Given the description of an element on the screen output the (x, y) to click on. 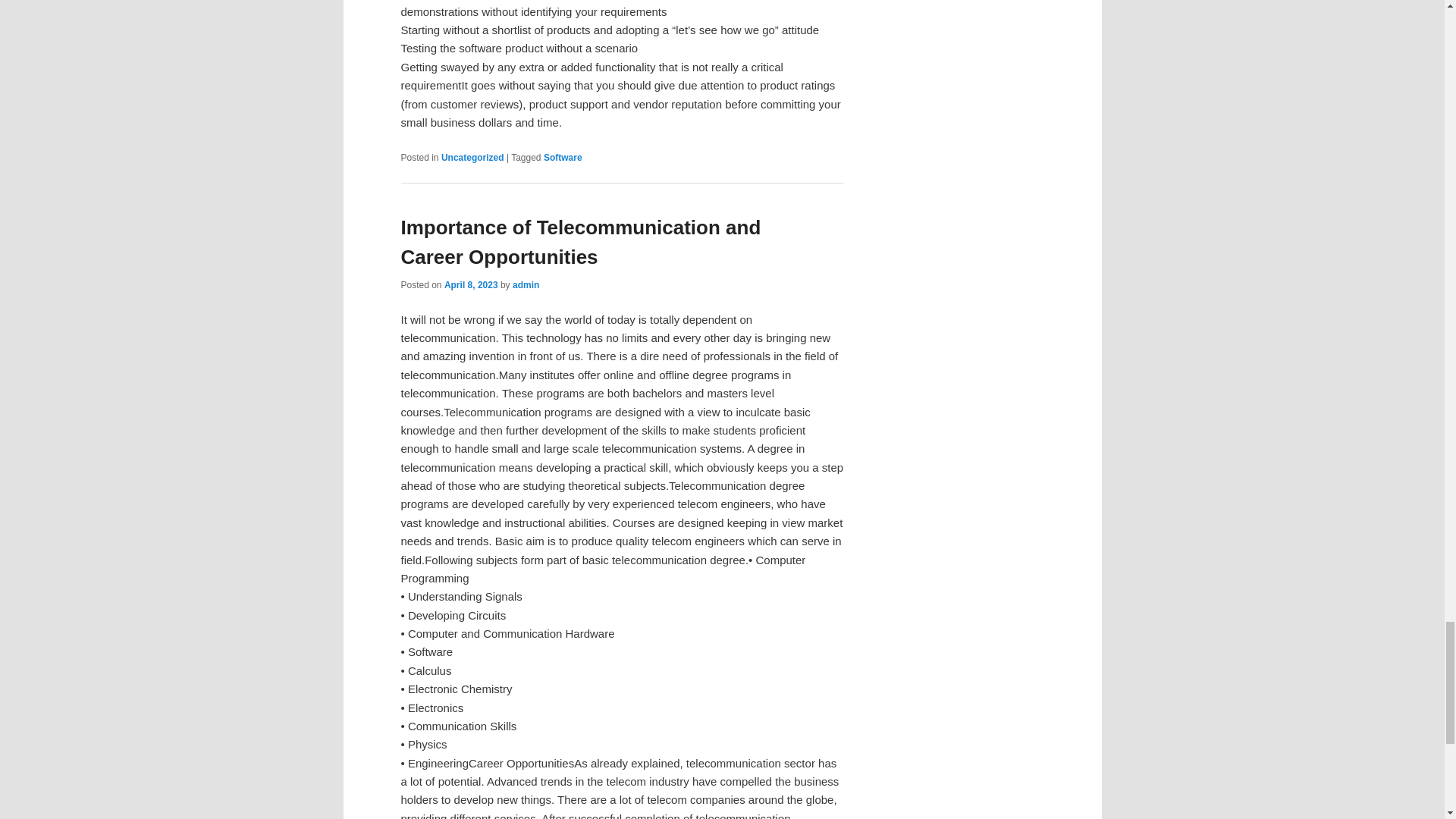
Importance of Telecommunication and Career Opportunities (580, 242)
Uncategorized (472, 157)
admin (525, 285)
View all posts by admin (525, 285)
View all posts in Uncategorized (472, 157)
Software (562, 157)
April 8, 2023 (470, 285)
7:55 pm (470, 285)
